Given the description of an element on the screen output the (x, y) to click on. 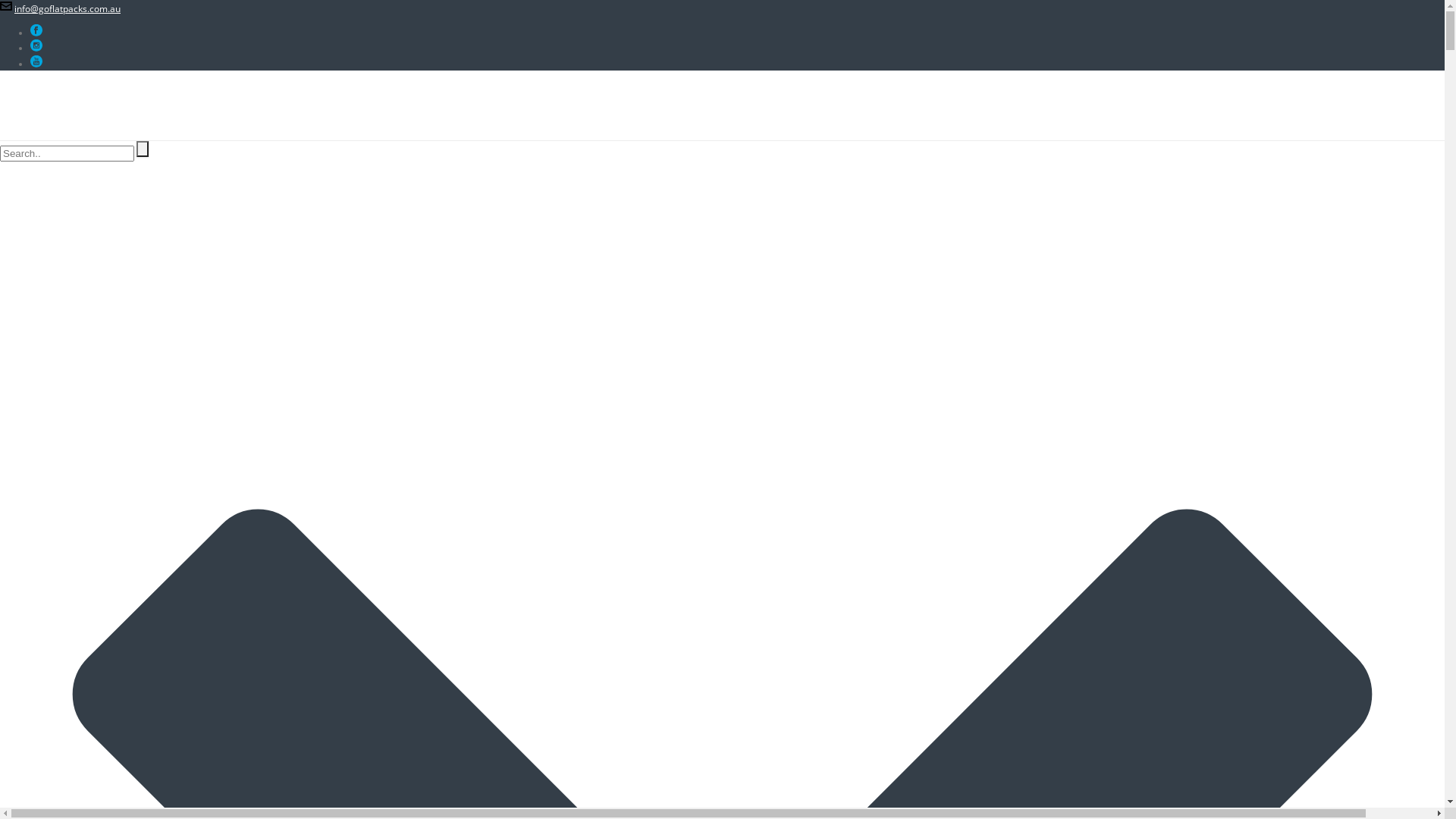
info@goflatpacks.com.au Element type: text (67, 8)
